Given the description of an element on the screen output the (x, y) to click on. 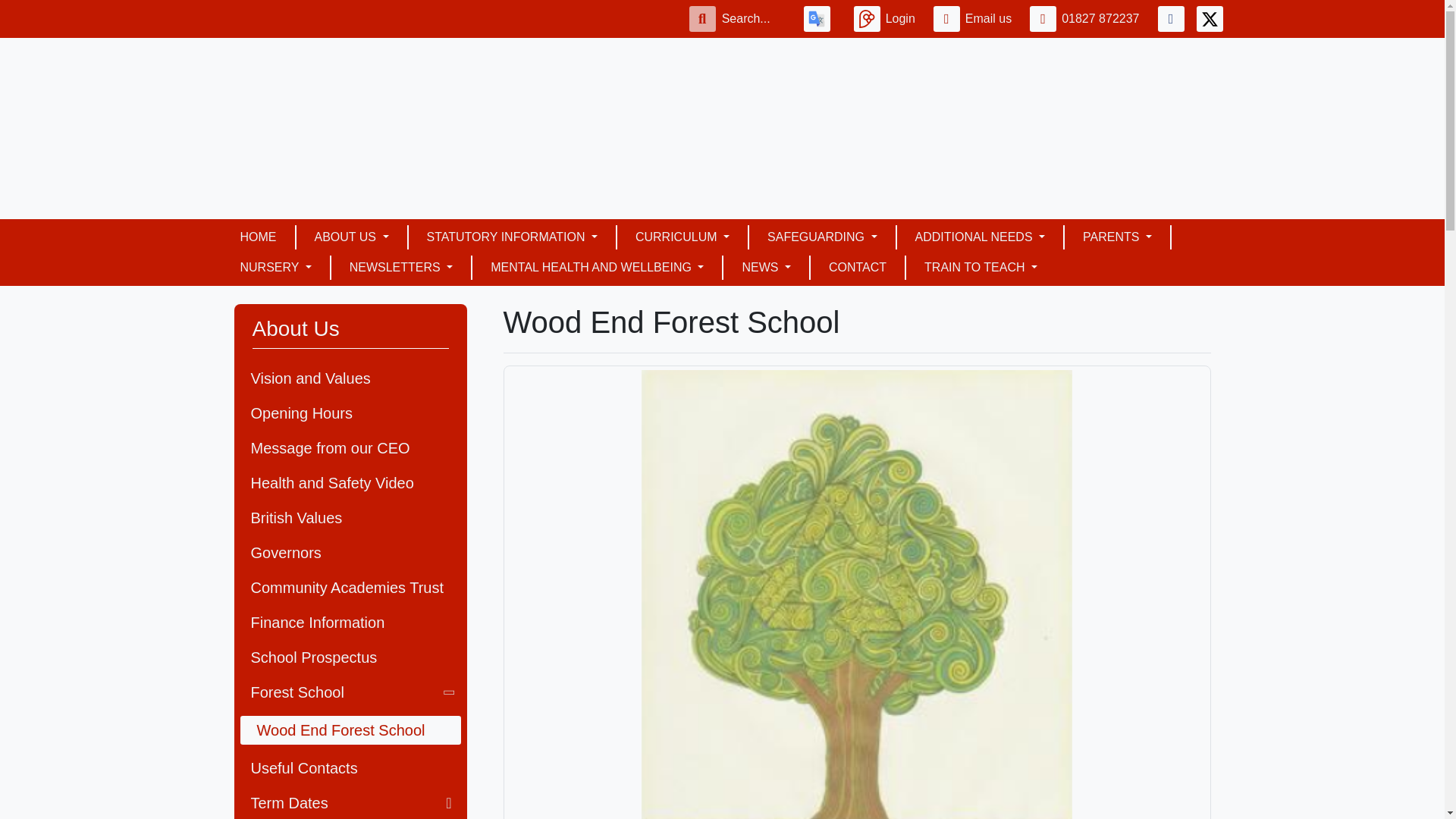
Login (887, 18)
01827 872237 (1086, 18)
Email us (975, 18)
